Given the description of an element on the screen output the (x, y) to click on. 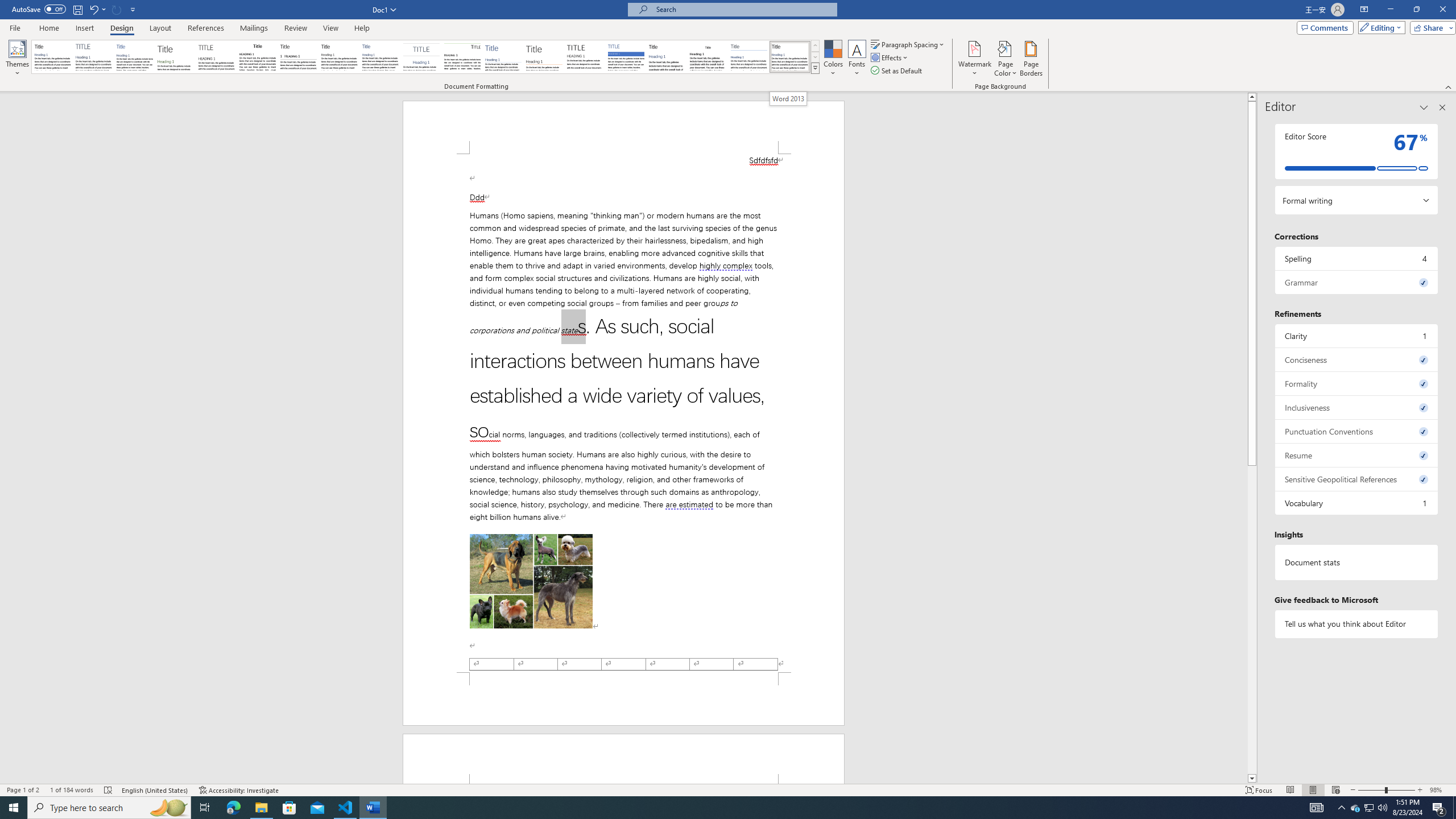
Basic (Simple) (135, 56)
Themes (17, 58)
Black & White (Numbered) (298, 56)
Watermark (974, 58)
Editing (1379, 27)
Lines (Stylish) (544, 56)
Spelling, 4 issues. Press space or enter to review items. (1356, 258)
